Given the description of an element on the screen output the (x, y) to click on. 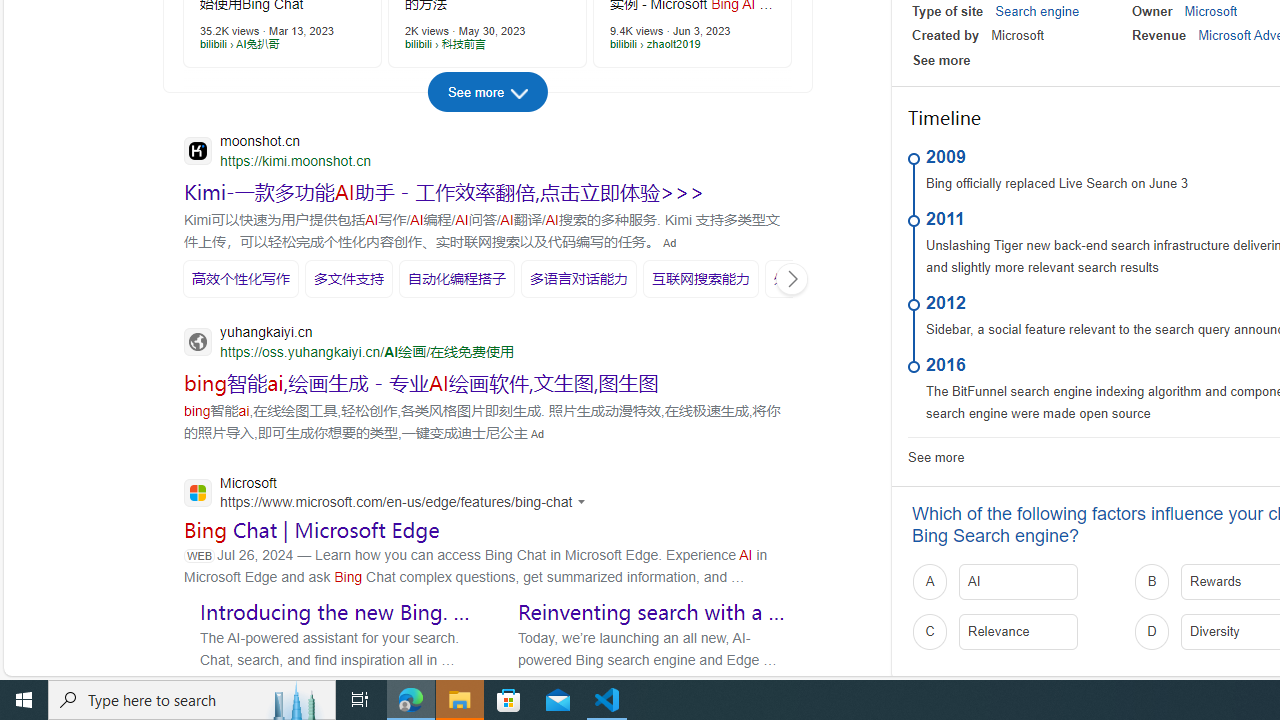
SERP,5718 (700, 278)
Bing Chat | Microsoft Edge (312, 529)
A AI (1016, 582)
SERP,5716 (456, 278)
SERP,5719 (815, 278)
Type of site (947, 11)
Click to scroll right (791, 278)
SERP,5717 (578, 278)
SERP,5716 (456, 278)
